Given the description of an element on the screen output the (x, y) to click on. 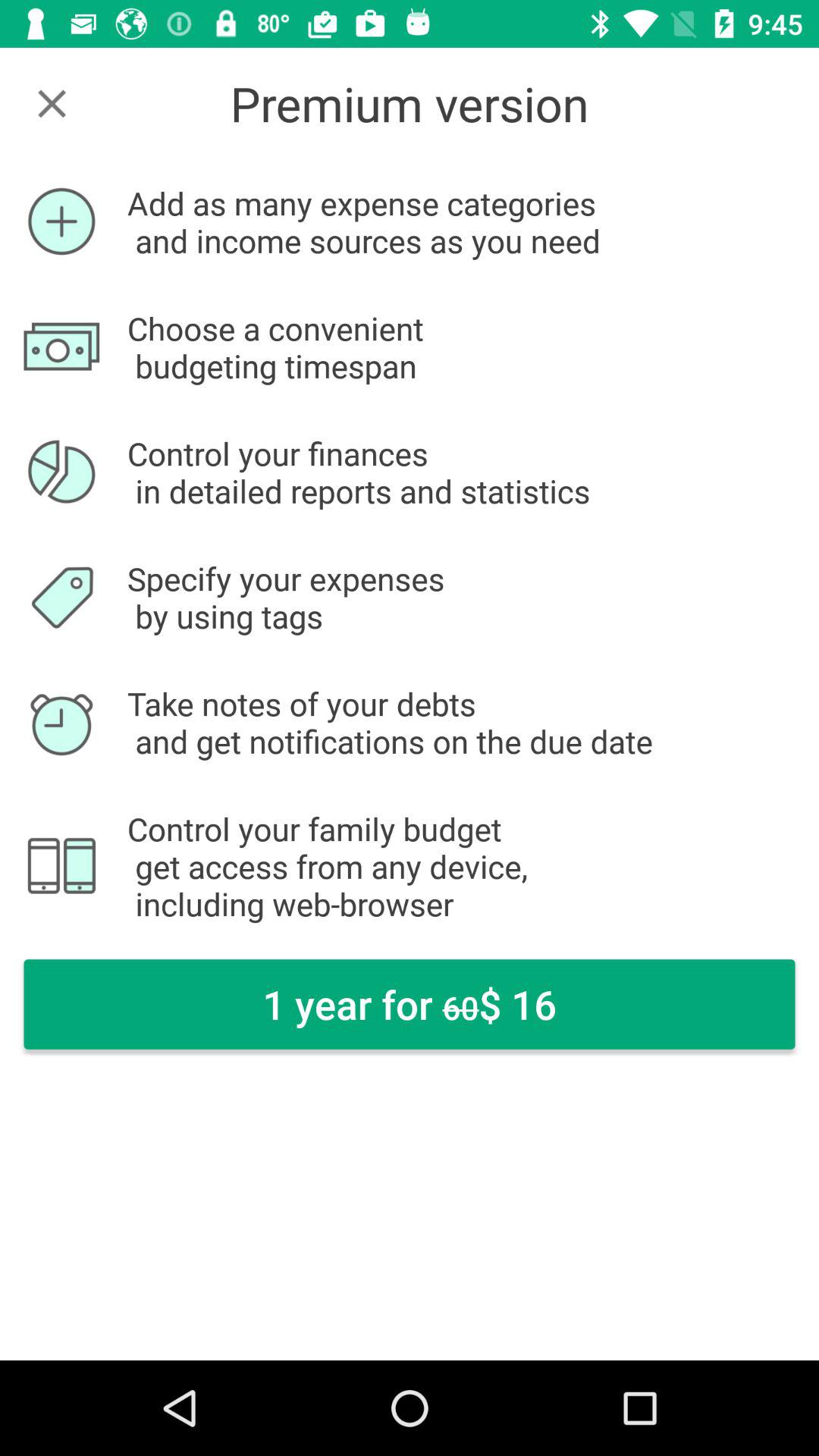
launch the 1 year for (409, 1004)
